Given the description of an element on the screen output the (x, y) to click on. 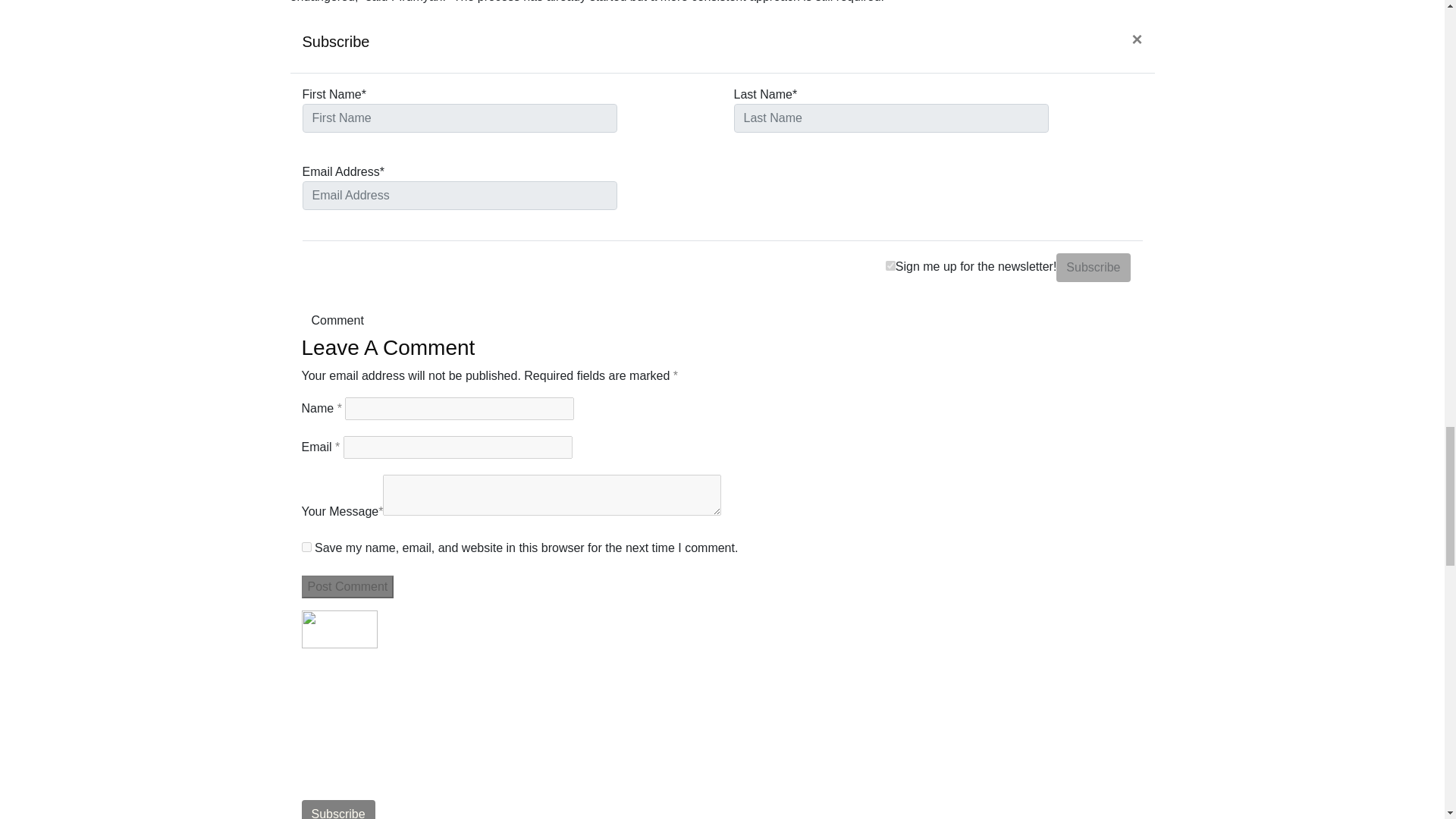
1 (890, 266)
Post Comment (347, 586)
yes (306, 547)
Subscribe (1093, 267)
